Given the description of an element on the screen output the (x, y) to click on. 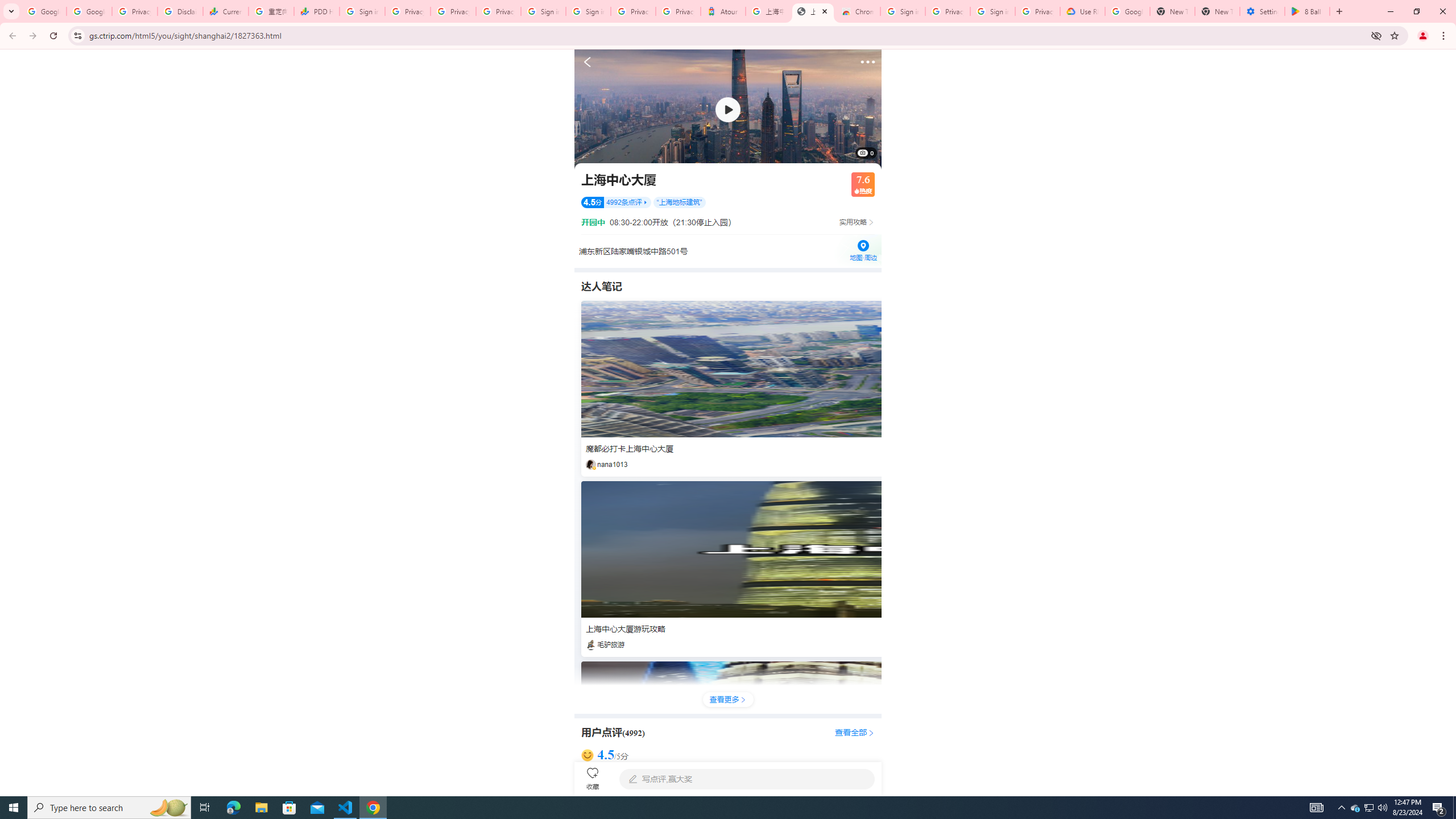
8 Ball Pool - Apps on Google Play (1307, 11)
Google Workspace Admin Community (43, 11)
New Tab (1216, 11)
Atour Hotel - Google hotels (723, 11)
